Given the description of an element on the screen output the (x, y) to click on. 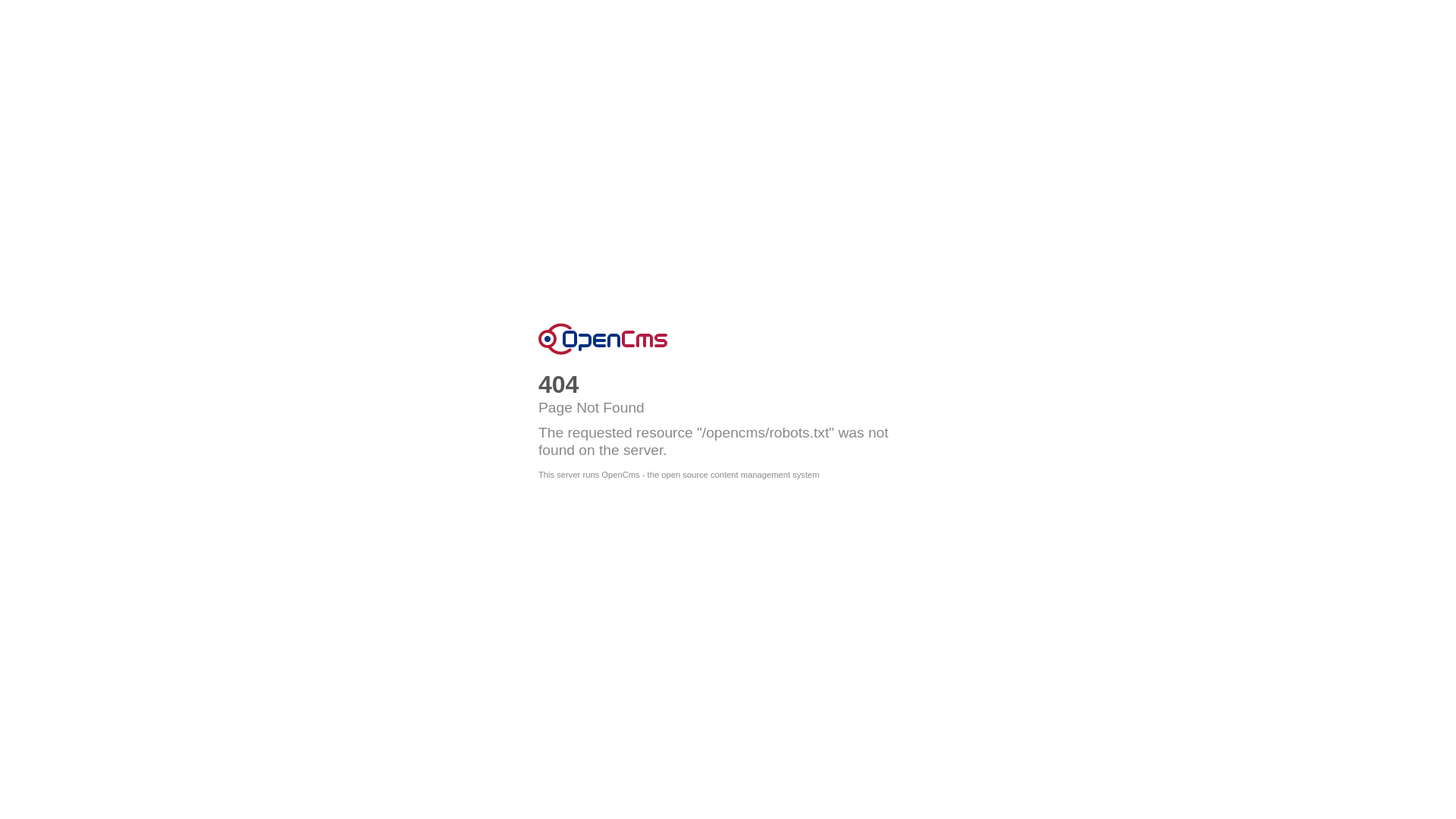
OpenCms Element type: text (602, 338)
